Given the description of an element on the screen output the (x, y) to click on. 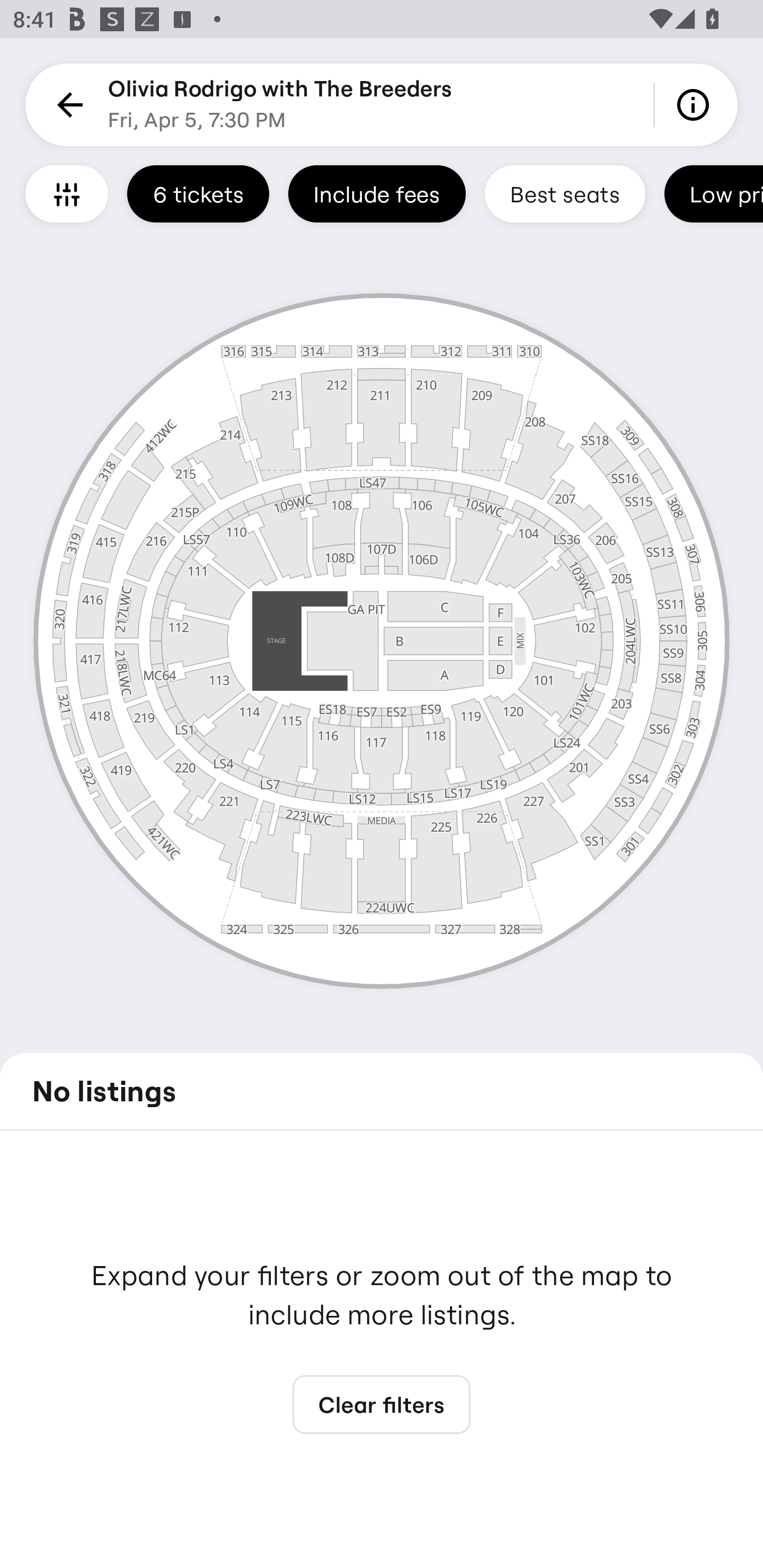
Back (66, 104)
Info (695, 104)
Filters and Accessible Seating (66, 193)
6 tickets (198, 193)
Include fees (376, 193)
Best seats (564, 193)
Clear filters (381, 1404)
